Given the description of an element on the screen output the (x, y) to click on. 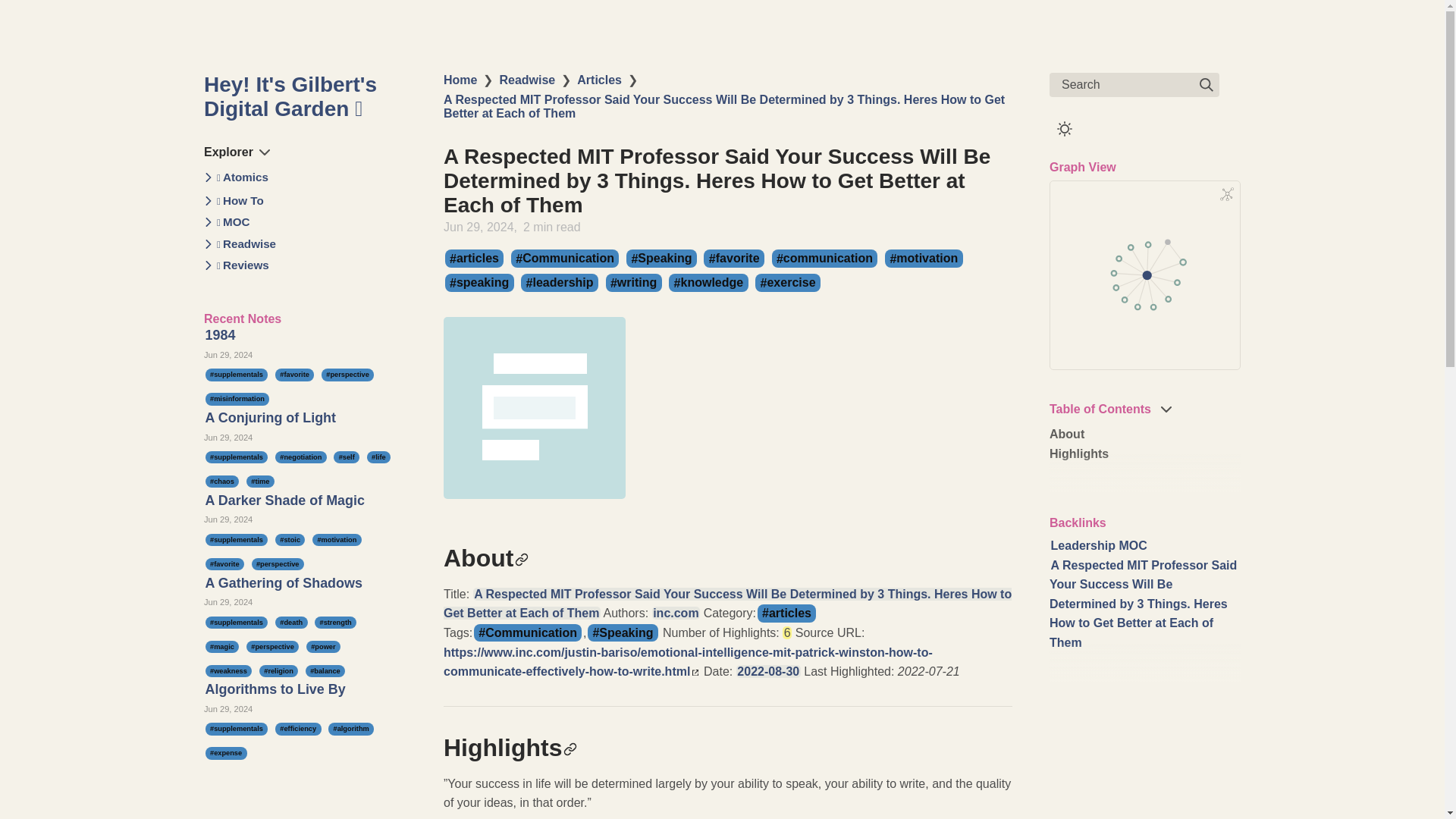
Atomics (241, 177)
Explorer (236, 151)
